Given the description of an element on the screen output the (x, y) to click on. 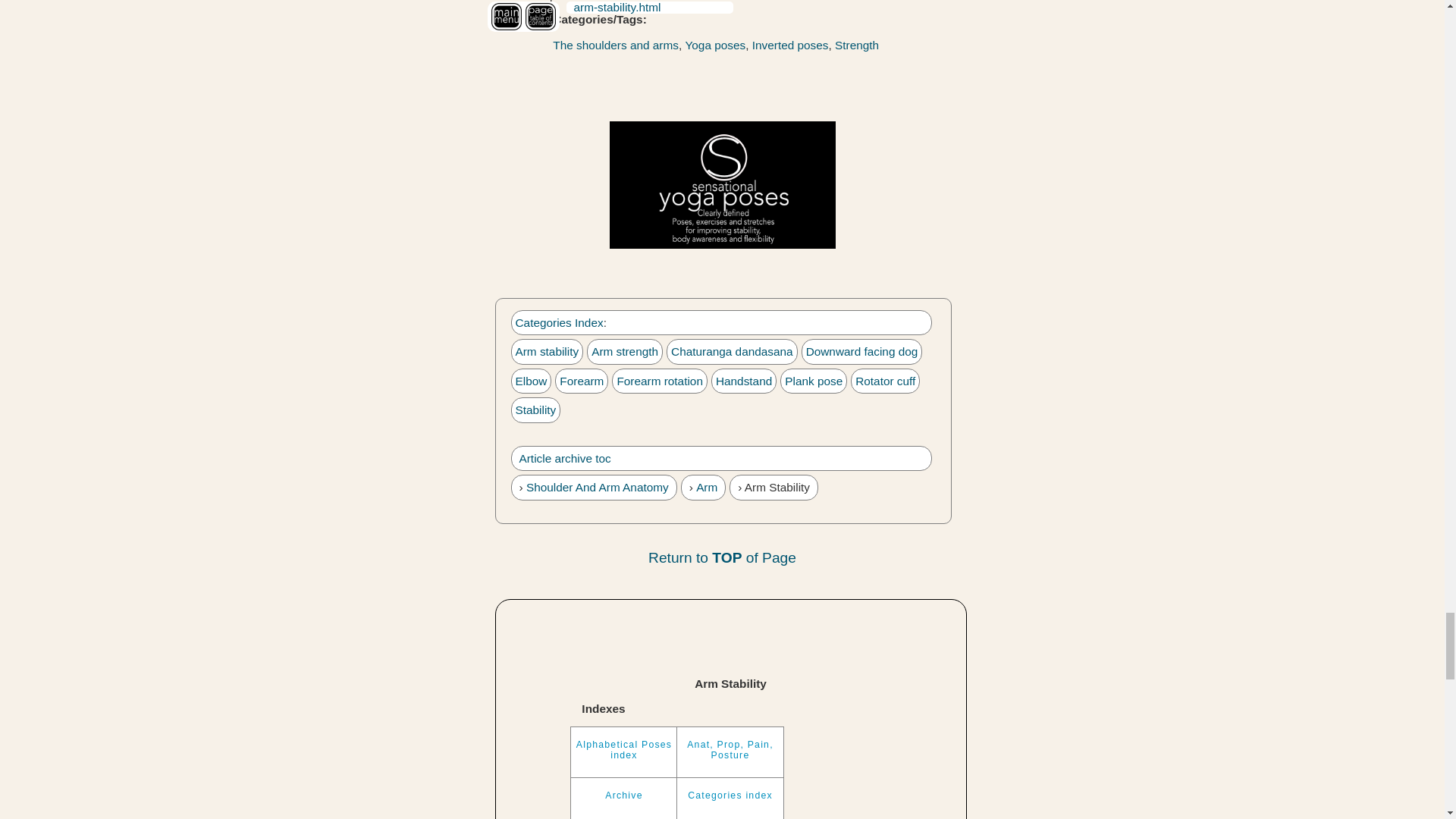
Categories Index (559, 322)
Forearm (581, 380)
Sensational Yoga Poses (722, 184)
Arm (706, 486)
Chaturanga dandasana (732, 350)
Arm stability (547, 350)
Arm strength (624, 350)
Yoga poses (714, 44)
Plank pose (813, 380)
Strength (856, 44)
Handstand (743, 380)
Shoulder And Arm Anatomy (596, 486)
The shoulders and arms (615, 44)
Article archive toc (564, 458)
Forearm rotation (659, 380)
